Given the description of an element on the screen output the (x, y) to click on. 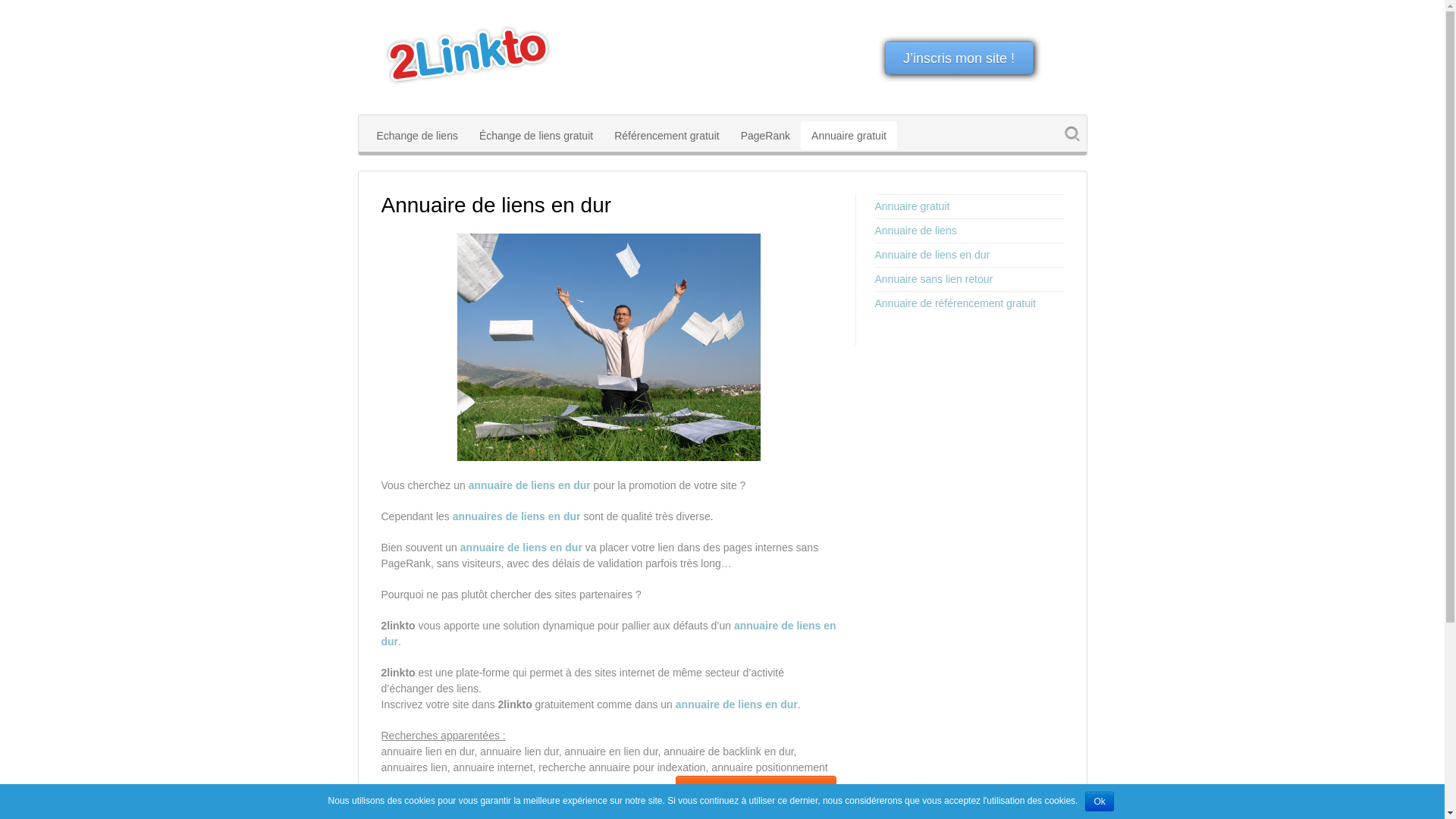
PageRank Element type: text (765, 135)
Annuaire gratuit Element type: text (969, 206)
annuaire de liens en dur Element type: text (736, 704)
annuaire de liens en dur Element type: text (529, 485)
Annuaire sans lien retour Element type: text (969, 278)
Annuaire de liens Element type: text (969, 230)
Echange de liens Element type: text (416, 135)
Ok Element type: text (1099, 801)
2linkto.com Element type: hover (467, 57)
annuaire de liens en dur Element type: text (521, 547)
Search Element type: hover (1074, 136)
Annuaire de liens en dur Element type: text (969, 254)
annuaires de liens en dur Element type: text (516, 516)
annuaire de liens en dur Element type: hover (608, 347)
annuaire de liens en dur Element type: text (607, 633)
Annuaire gratuit Element type: text (848, 135)
